Given the description of an element on the screen output the (x, y) to click on. 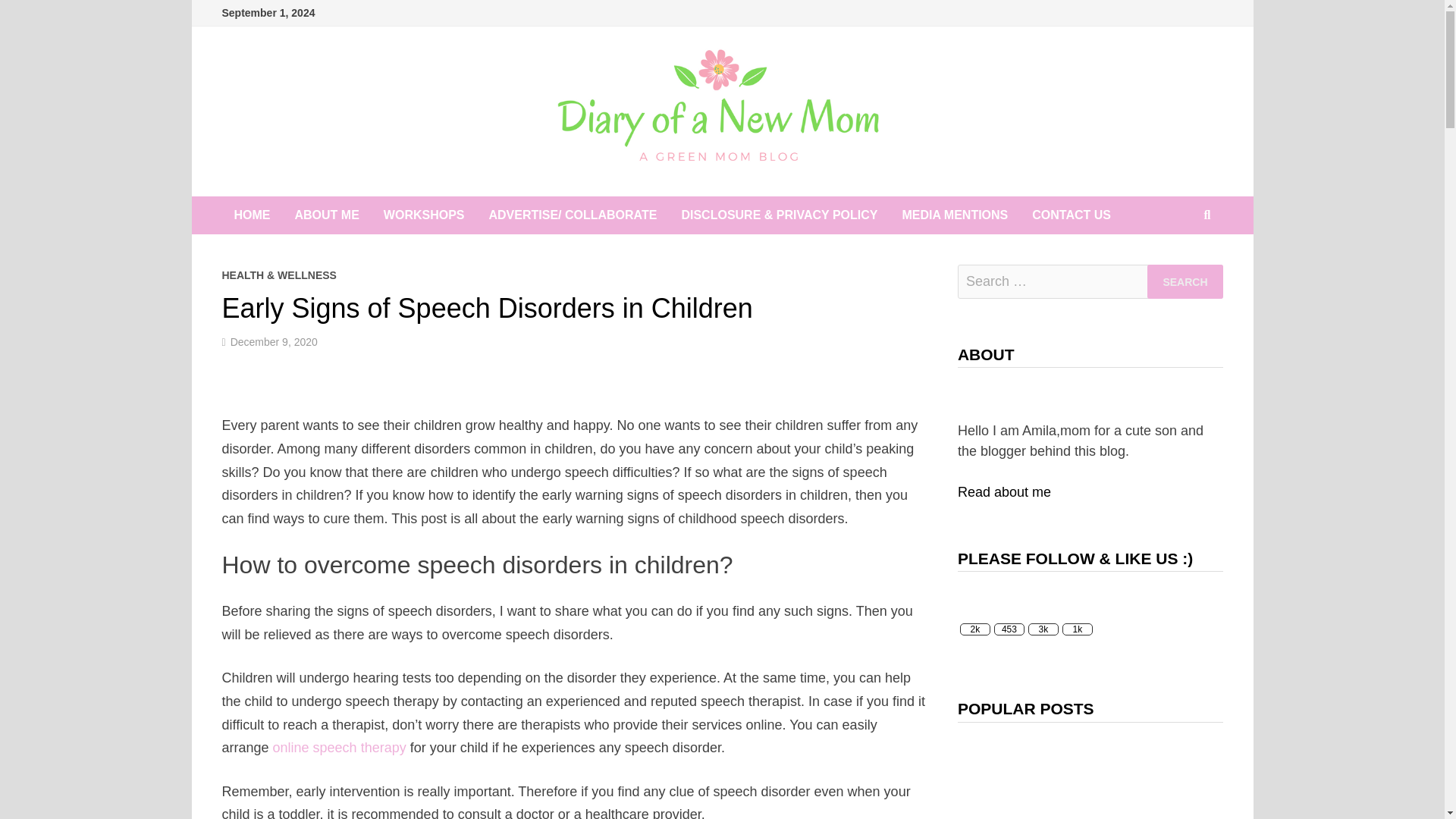
Search (1185, 281)
CONTACT US (1071, 215)
Search (1185, 281)
online speech therapy (339, 747)
HOME (251, 215)
December 9, 2020 (273, 341)
WORKSHOPS (424, 215)
MEDIA MENTIONS (954, 215)
ABOUT ME (326, 215)
